Given the description of an element on the screen output the (x, y) to click on. 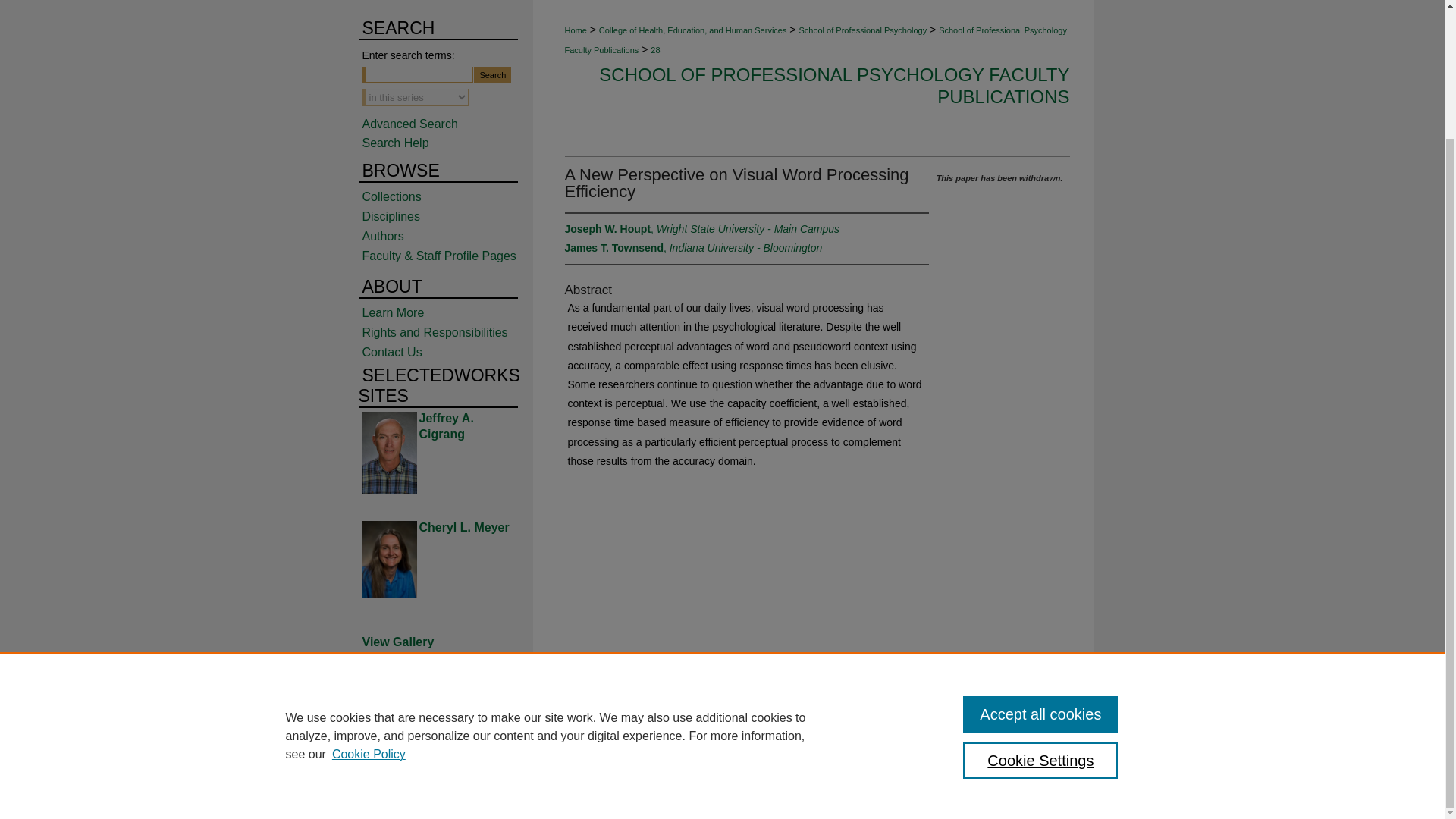
Browse by Disciplines (447, 216)
SCHOOL OF PROFESSIONAL PSYCHOLOGY FACULTY PUBLICATIONS (833, 85)
Jeffrey A. Cigrang (446, 425)
School of Professional Psychology Faculty Publications (814, 39)
Search Help (395, 142)
Disciplines (447, 216)
Search (492, 74)
Learn More (447, 313)
Contact Us (447, 352)
Collections (447, 196)
James T. Townsend, Indiana University - Bloomington (693, 247)
College of Health, Education, and Human Services (692, 30)
Cheryl L. Meyer (463, 526)
Search Help (395, 142)
Search (492, 74)
